Given the description of an element on the screen output the (x, y) to click on. 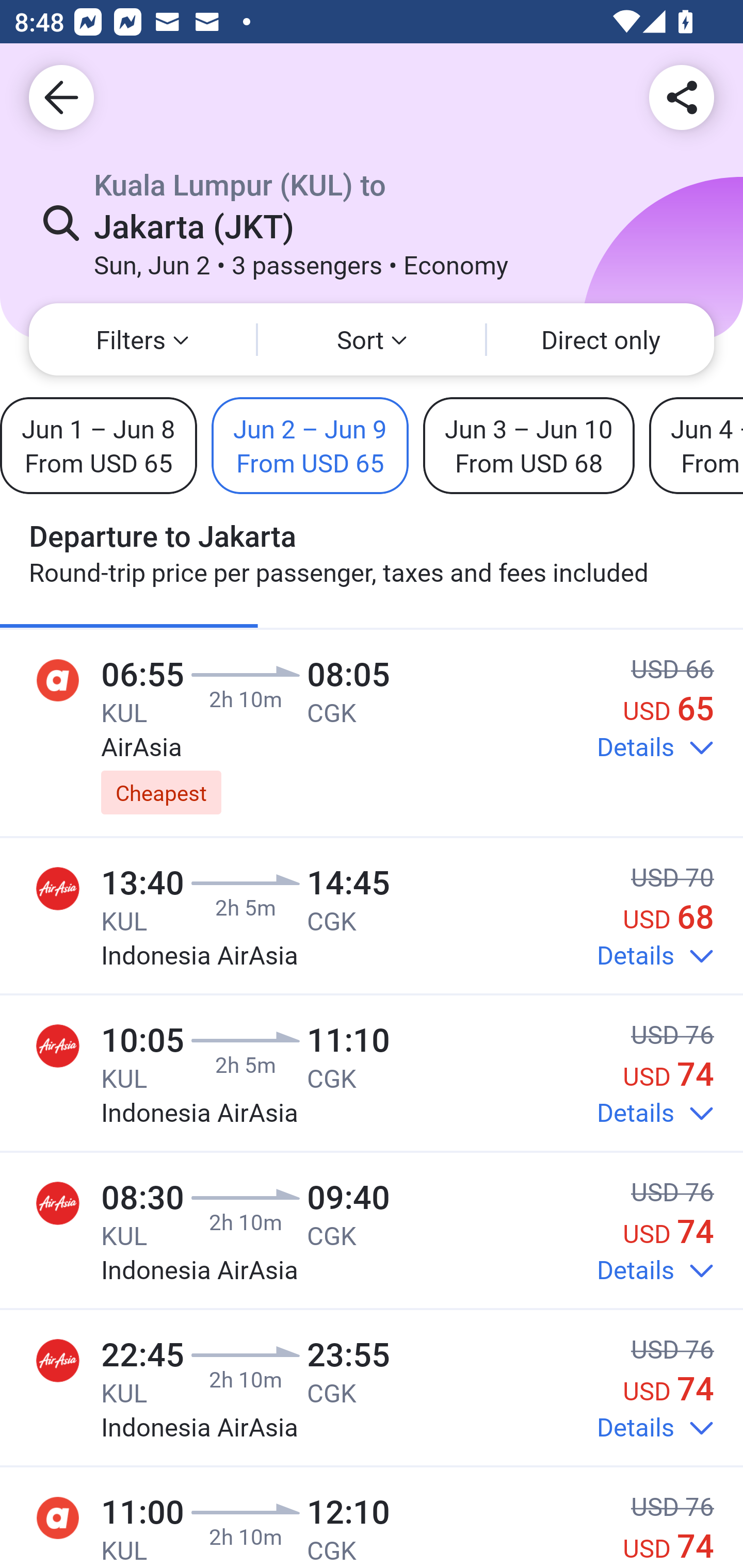
Filters (141, 339)
Sort (371, 339)
Direct only (600, 339)
Jun 1 – Jun 8 From USD 65 (98, 444)
Jun 2 – Jun 9 From USD 65 (309, 444)
Jun 3 – Jun 10 From USD 68 (528, 444)
